Given the description of an element on the screen output the (x, y) to click on. 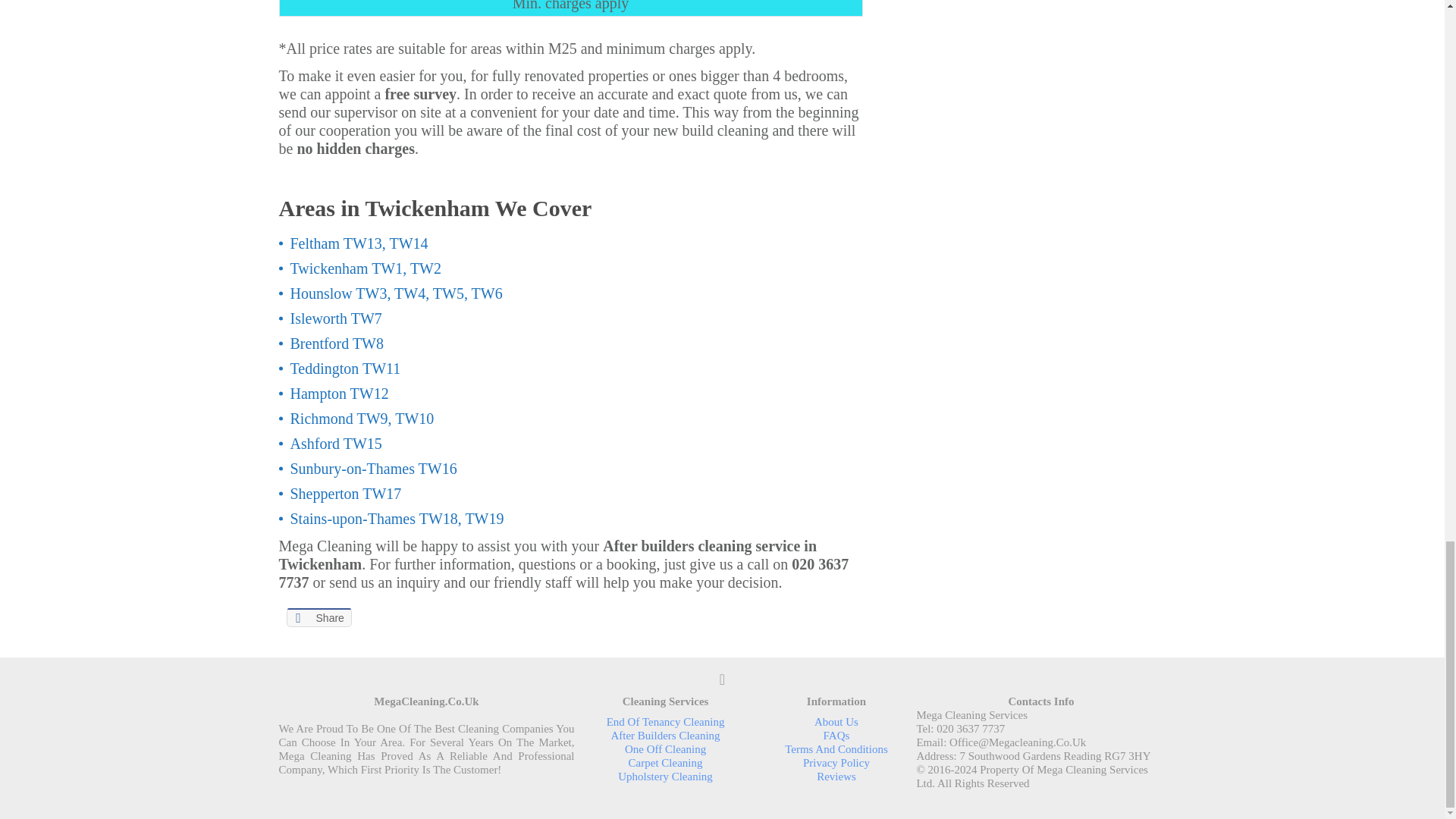
End Of Tenancy Cleaning (666, 721)
Share (319, 617)
Share on Facebook (319, 617)
After Builders Cleaning (664, 735)
